Given the description of an element on the screen output the (x, y) to click on. 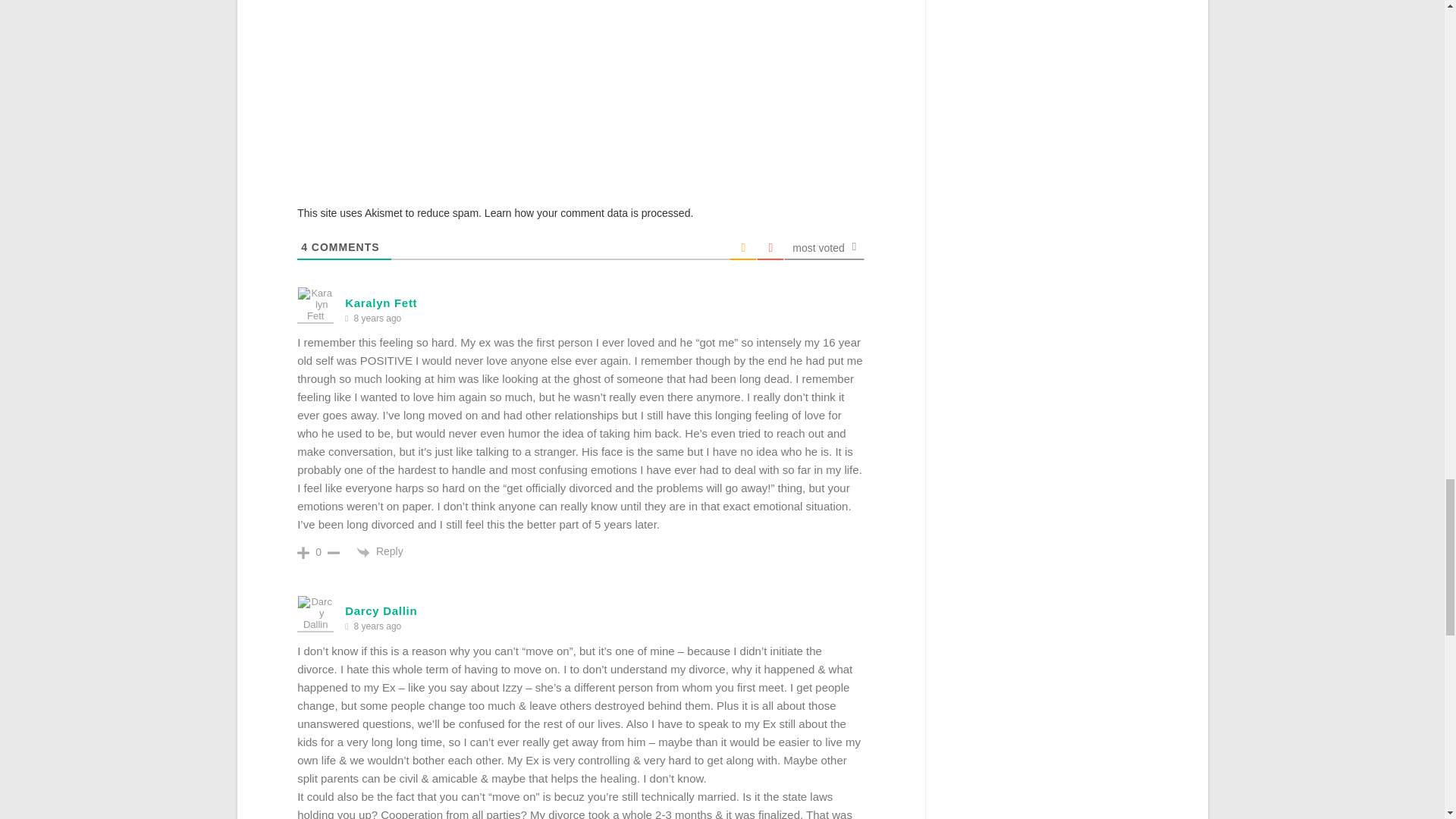
February 19, 2018 12:10 pm (377, 318)
0 (317, 551)
Comment Form (580, 94)
